Given the description of an element on the screen output the (x, y) to click on. 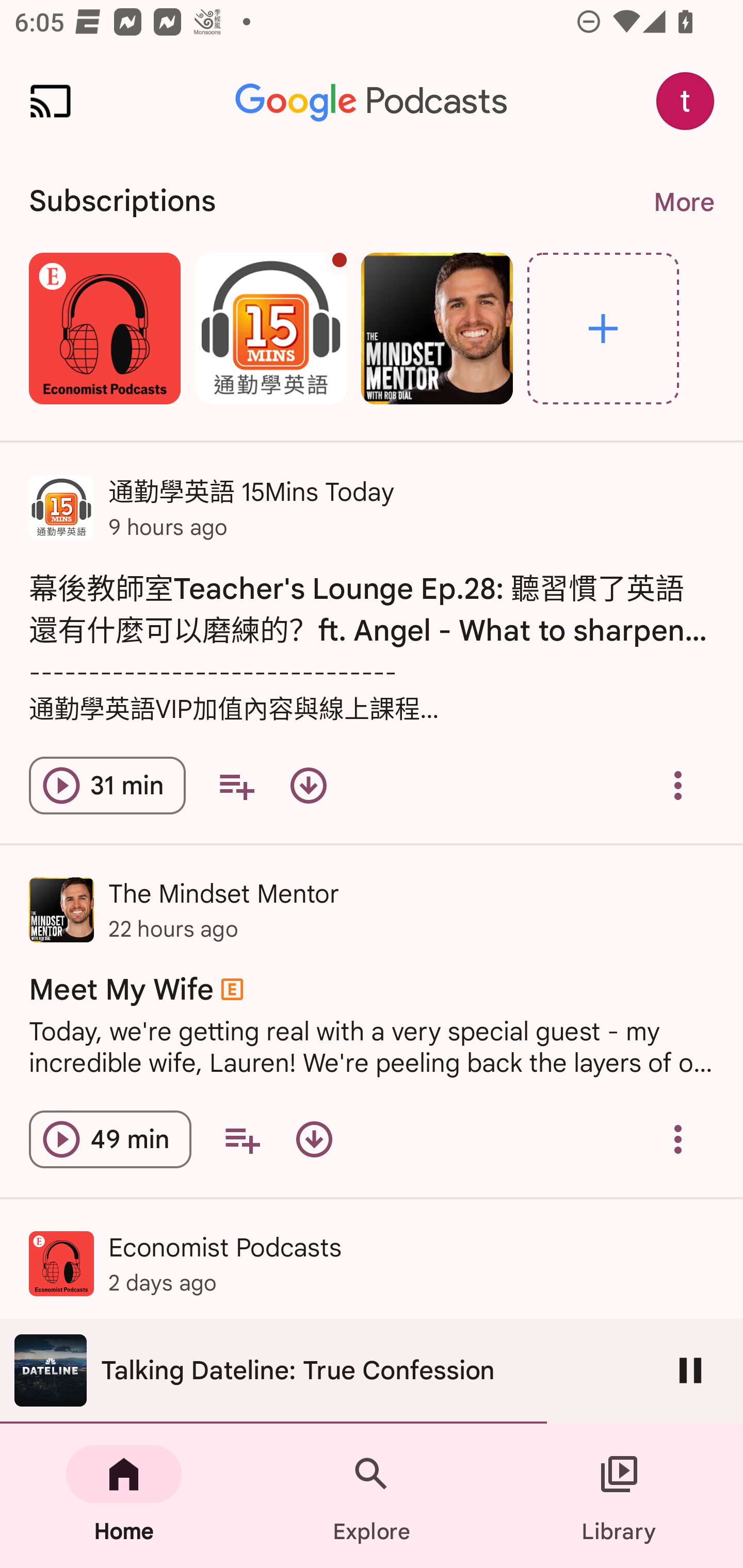
Cast. Disconnected (50, 101)
More More. Navigate to subscriptions page. (683, 202)
Economist Podcasts (104, 328)
通勤學英語 15Mins Today (270, 328)
The Mindset Mentor (436, 328)
Explore (603, 328)
Add to your queue (235, 785)
Download episode (308, 785)
Overflow menu (677, 785)
Play episode Meet My Wife 49 min (109, 1139)
Add to your queue (241, 1139)
Download episode (313, 1139)
Overflow menu (677, 1139)
Pause (690, 1370)
Explore (371, 1495)
Library (619, 1495)
